Given the description of an element on the screen output the (x, y) to click on. 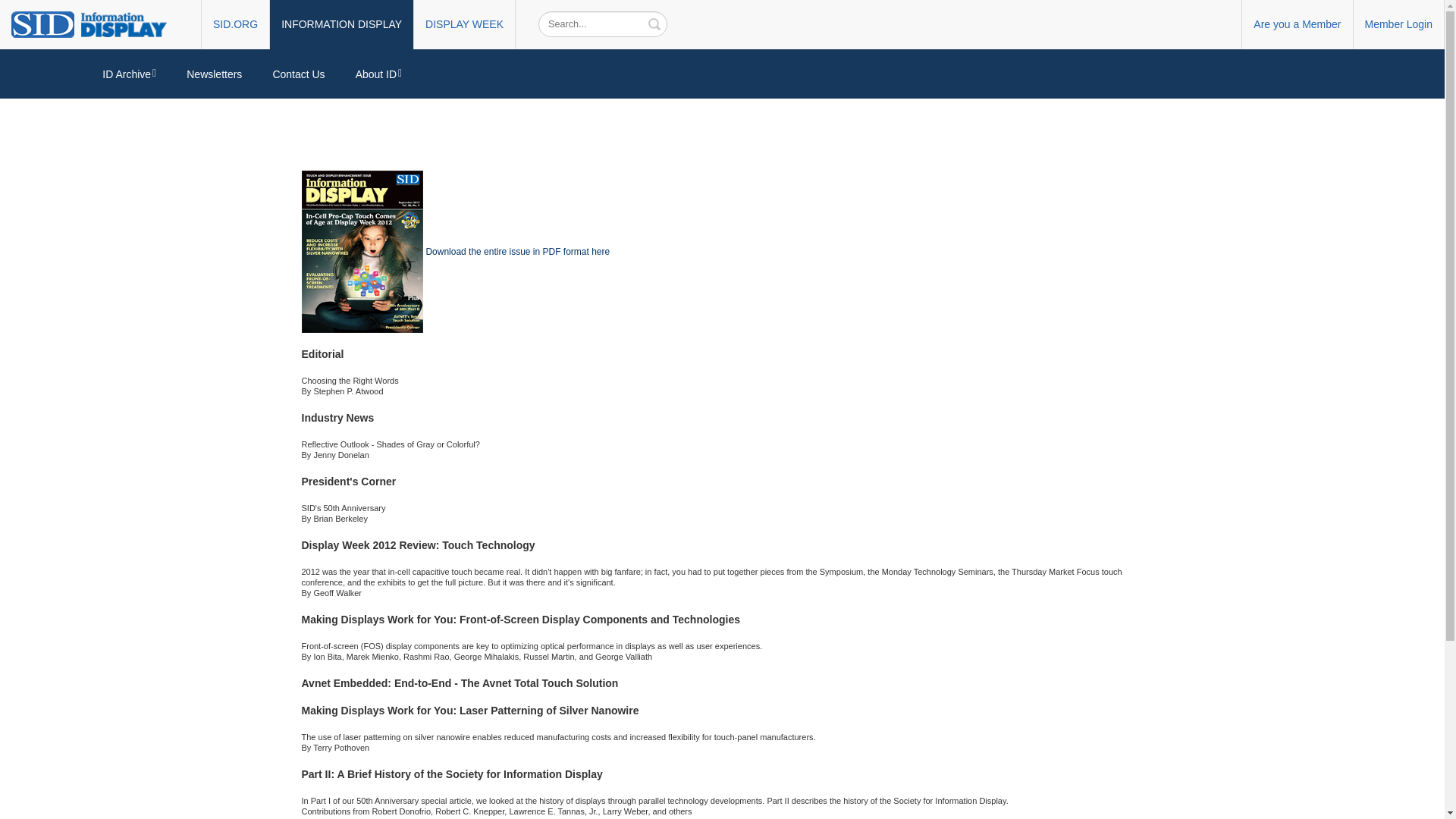
SID.ORG (234, 24)
INFORMATION DISPLAY (341, 24)
InformationDisplay (96, 22)
ID Archive (128, 73)
Are you a Member (1296, 24)
DISPLAY WEEK (464, 24)
Clear search text (653, 22)
